Given the description of an element on the screen output the (x, y) to click on. 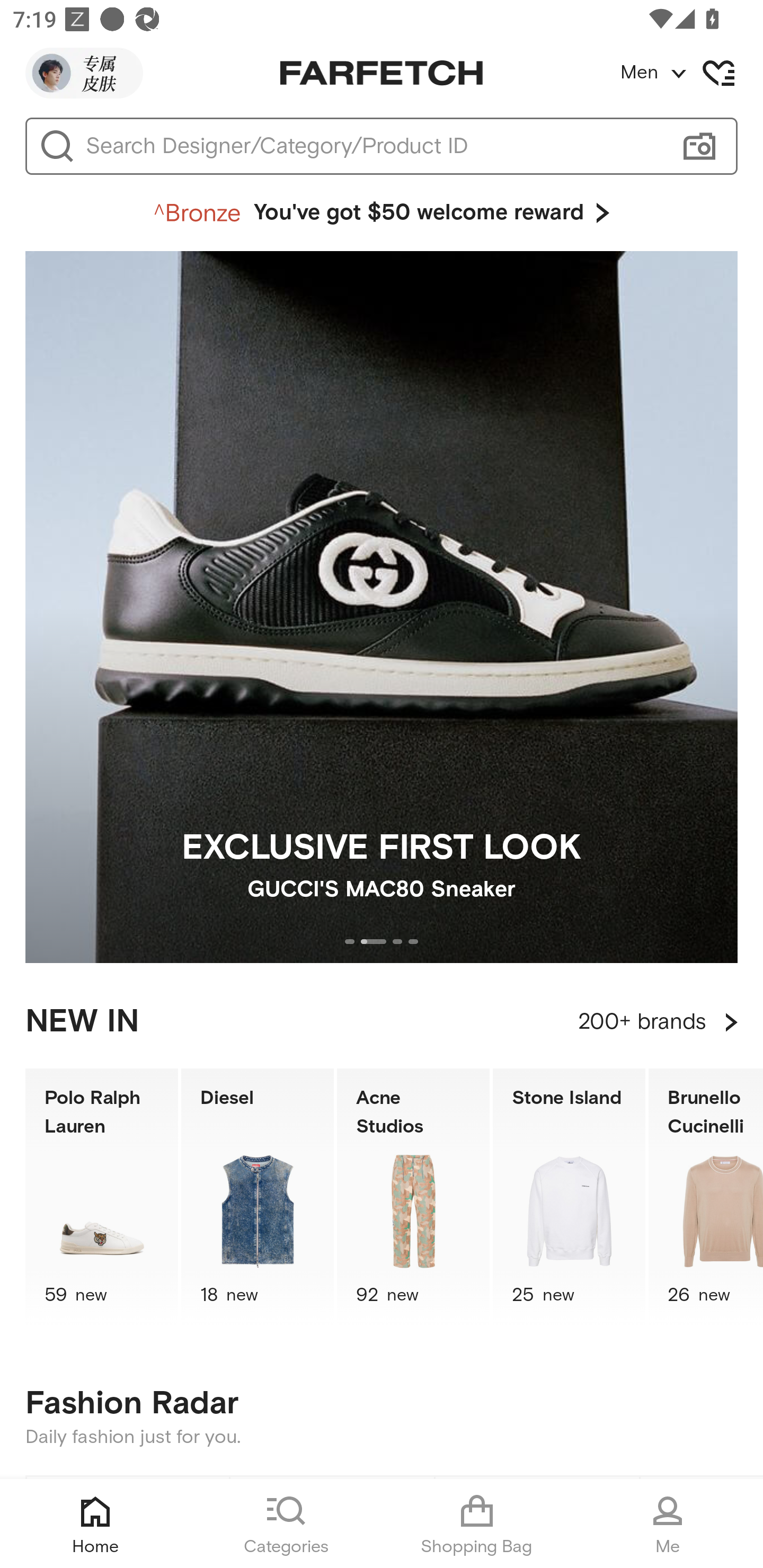
Men (691, 72)
Search Designer/Category/Product ID (373, 146)
You've got $50 welcome reward (381, 213)
NEW IN 200+ brands (381, 1021)
Polo Ralph Lauren 59  new (101, 1196)
Diesel 18  new (257, 1196)
Acne Studios 92  new (413, 1196)
Stone Island 25  new (568, 1196)
Brunello Cucinelli 26  new (705, 1196)
Categories (285, 1523)
Shopping Bag (476, 1523)
Me (667, 1523)
